Given the description of an element on the screen output the (x, y) to click on. 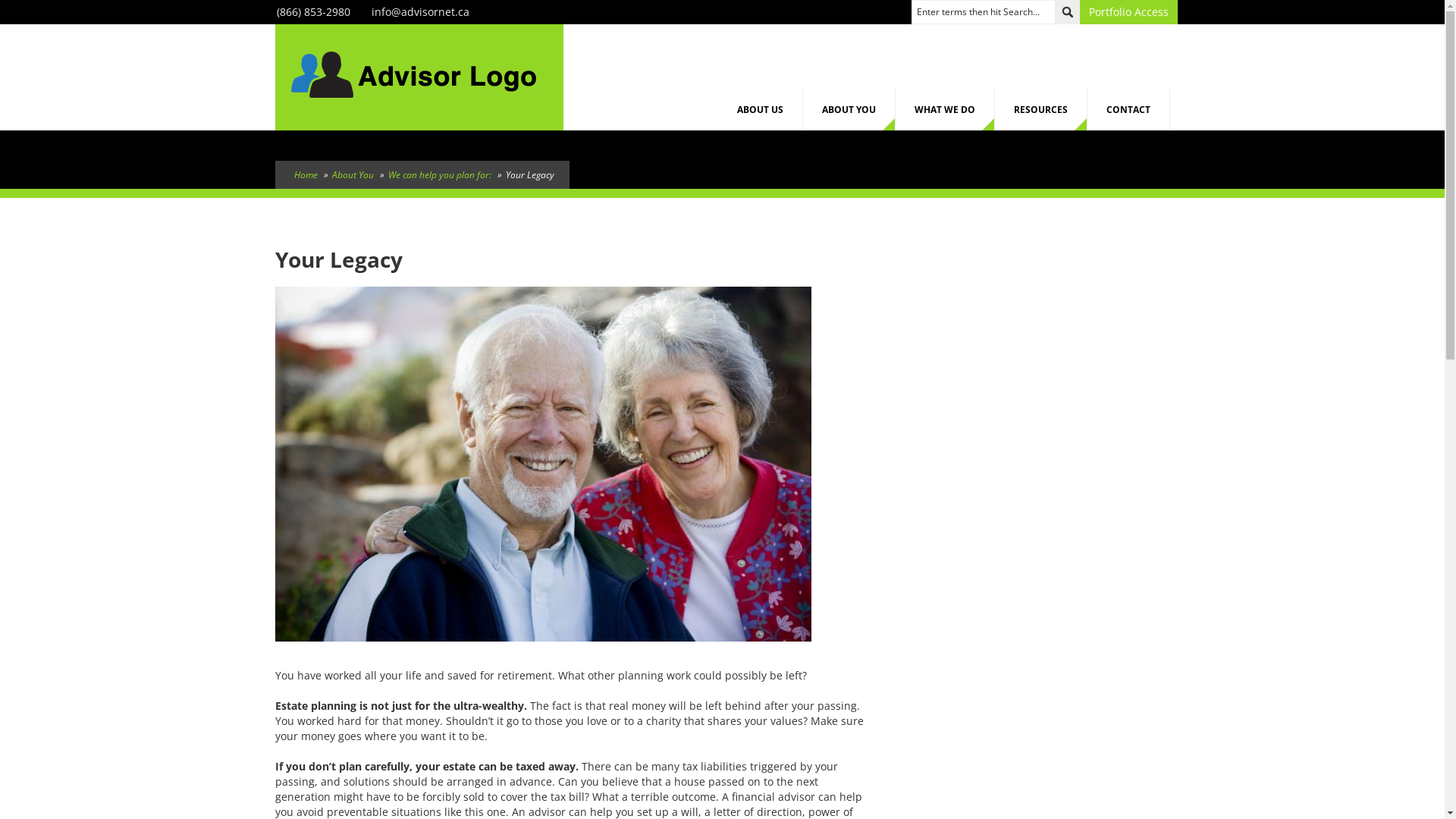
About You Element type: text (352, 174)
Home Element type: hover (412, 76)
RESOURCES Element type: text (1040, 109)
(866) 853-2980 Element type: text (312, 11)
Skip to main content Element type: text (52, 0)
CONTACT Element type: text (1128, 109)
ABOUT US Element type: text (759, 109)
We can help you plan for: Element type: text (439, 174)
ABOUT YOU Element type: text (848, 109)
Home Element type: text (305, 174)
WHAT WE DO Element type: text (944, 109)
Portfolio Access Element type: text (1128, 12)
info@advisornet.ca Element type: text (420, 11)
